Given the description of an element on the screen output the (x, y) to click on. 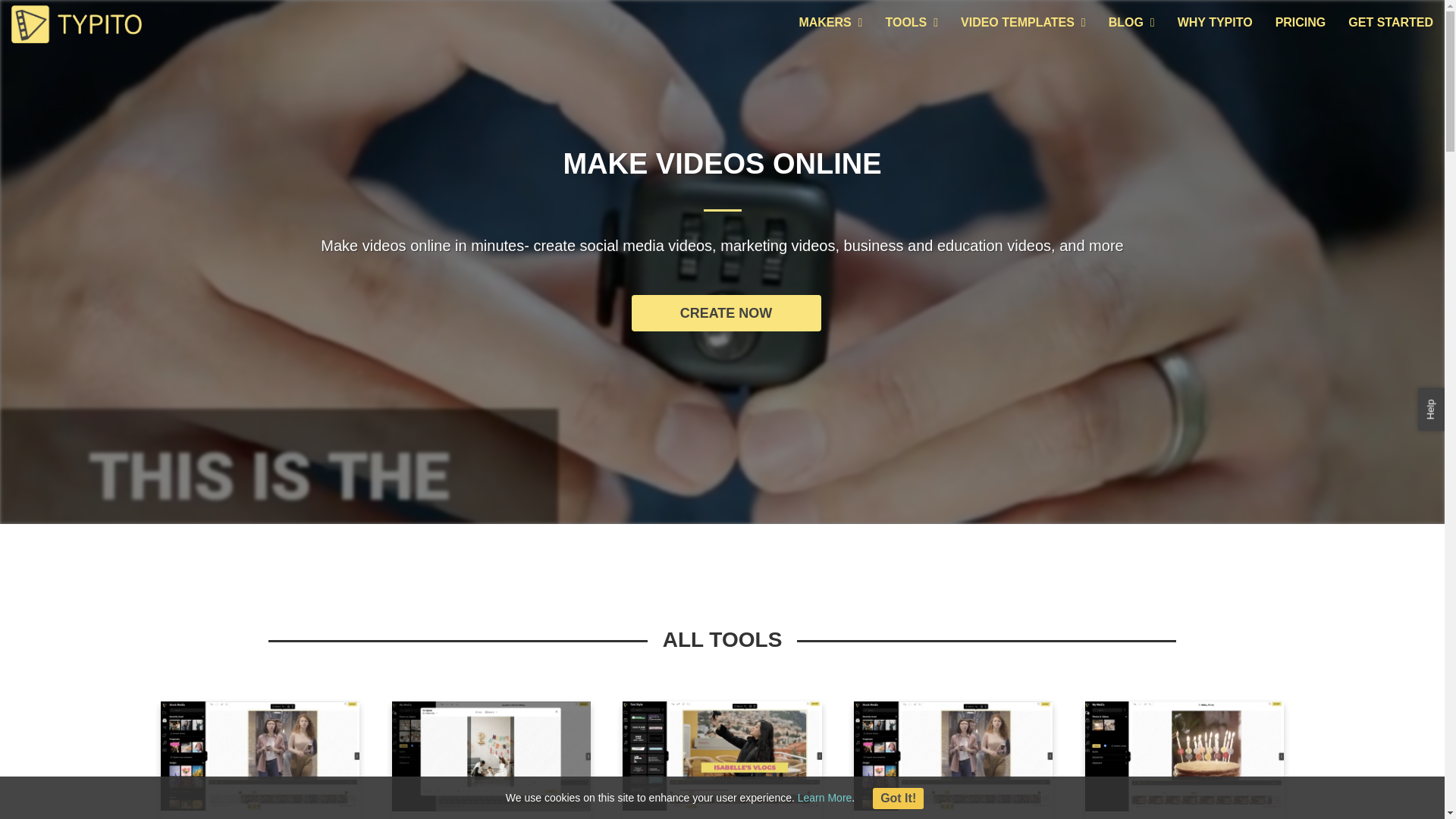
TOOLS   (911, 22)
MAKERS   (830, 22)
PRICING (1300, 22)
WHY TYPITO (1214, 22)
